Given the description of an element on the screen output the (x, y) to click on. 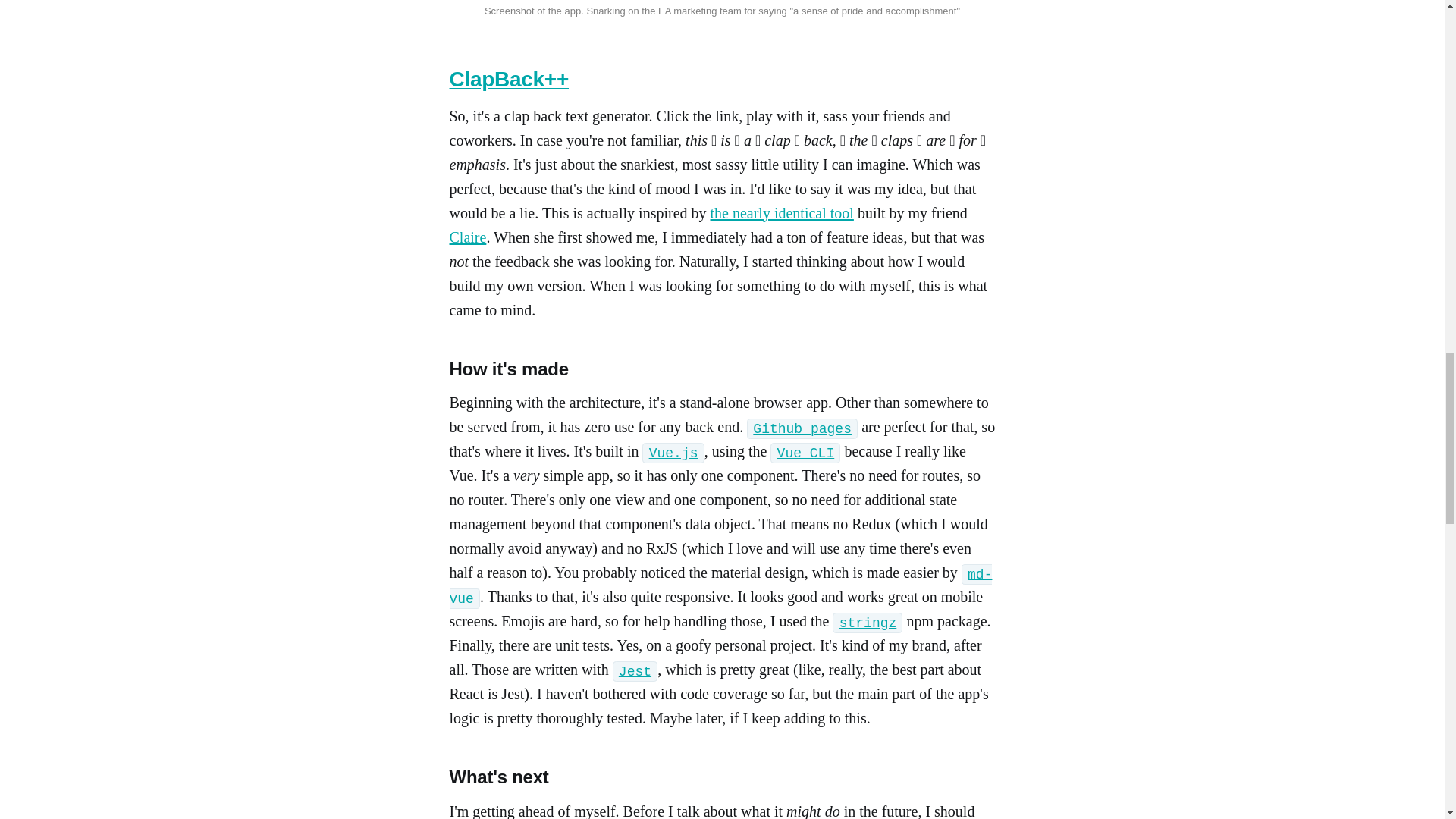
the nearly identical tool (781, 212)
md-vue (719, 586)
Claire (467, 237)
Vue CLI (805, 453)
stringz (868, 622)
Github pages (801, 428)
Jest (634, 671)
Vue.js (673, 453)
